Given the description of an element on the screen output the (x, y) to click on. 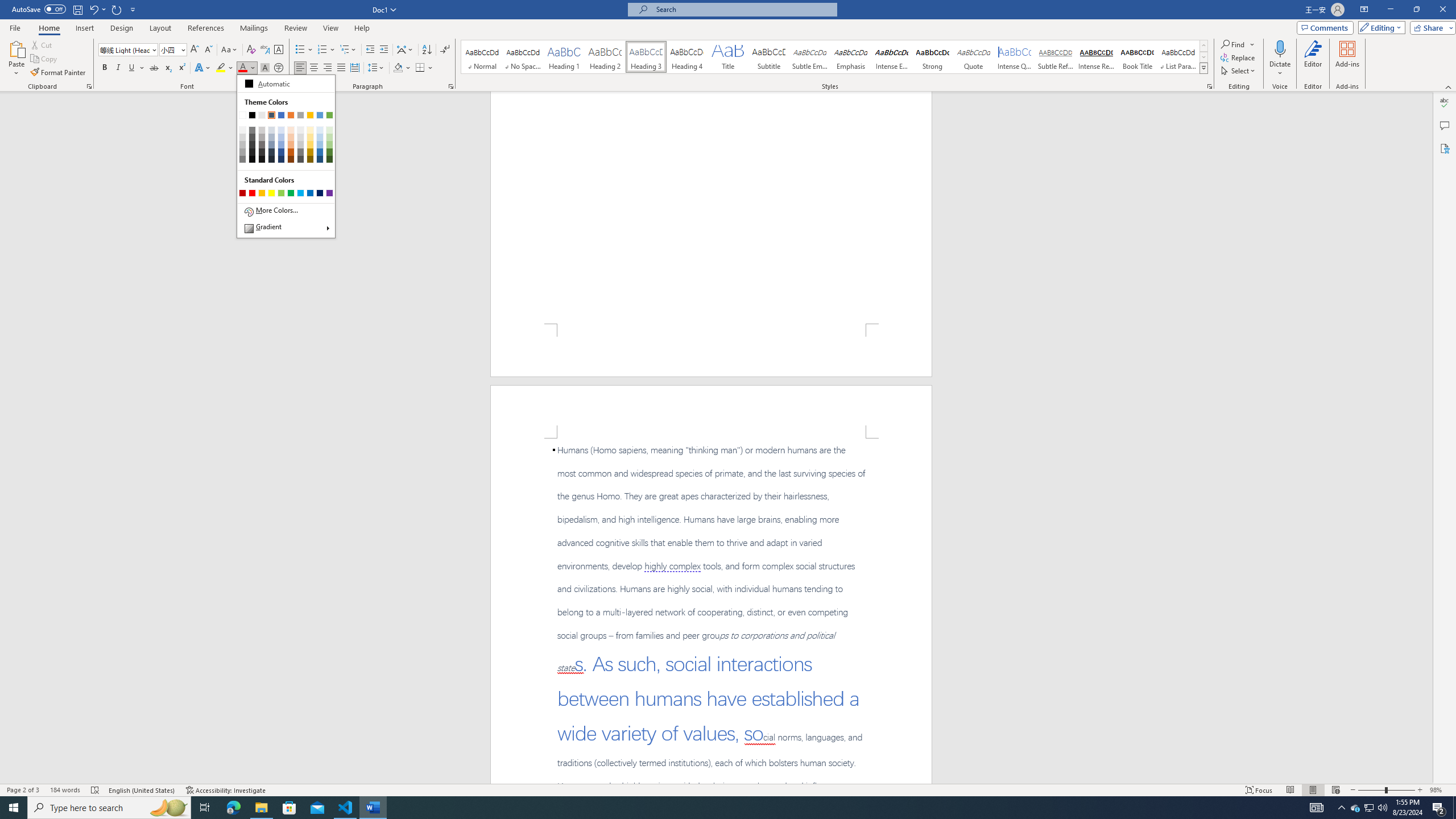
Copy (45, 58)
Page 2 content (710, 610)
Restore Down (1416, 9)
Microsoft Edge (233, 807)
Dictate (1280, 58)
Borders (419, 67)
Styles (1203, 67)
Justify (340, 67)
Format Painter (58, 72)
Sort... (426, 49)
Save (77, 9)
Ribbon Display Options (1364, 9)
Superscript (180, 67)
Header -Section 1- (710, 411)
